Given the description of an element on the screen output the (x, y) to click on. 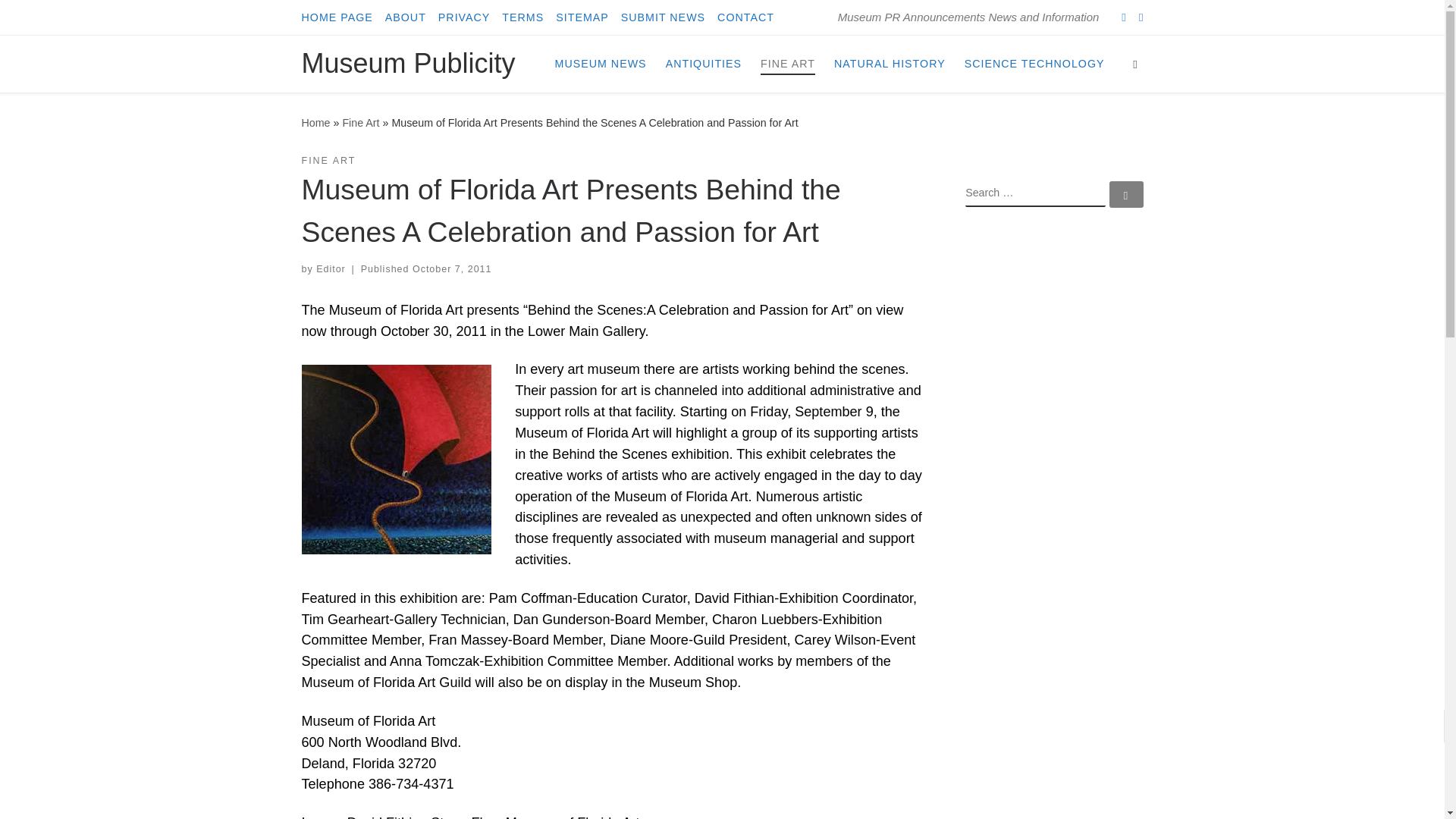
FINE ART (328, 160)
View all posts by Editor (330, 268)
PRIVACY (464, 17)
NATURAL HISTORY (889, 63)
CONTACT (745, 17)
Editor (330, 268)
FINE ART (787, 63)
Museum Publicity (315, 122)
ANTIQUITIES (703, 63)
SITEMAP (582, 17)
David Fithian (396, 459)
SCIENCE TECHNOLOGY (1033, 63)
HOME PAGE (336, 17)
Advertisement (1054, 464)
Subscribe to my rss feed (1123, 16)
